Given the description of an element on the screen output the (x, y) to click on. 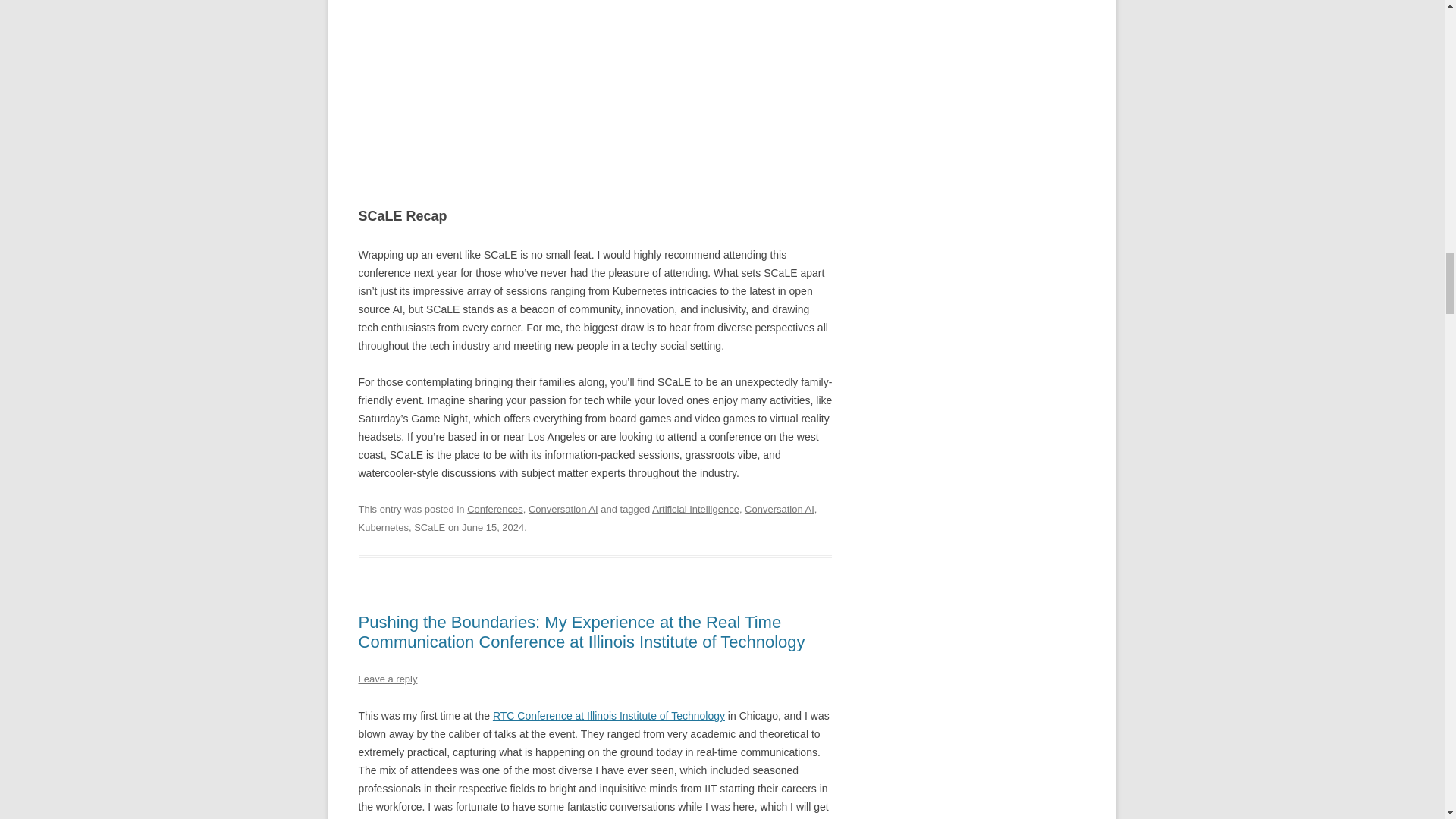
Conferences (494, 509)
Kubernetes (382, 527)
Conversation AI (563, 509)
Leave a reply (387, 678)
RTC Conference at Illinois Institute of Technology (609, 715)
June 15, 2024 (492, 527)
SCaLE (429, 527)
2:42 pm (492, 527)
Conversation AI (778, 509)
